Given the description of an element on the screen output the (x, y) to click on. 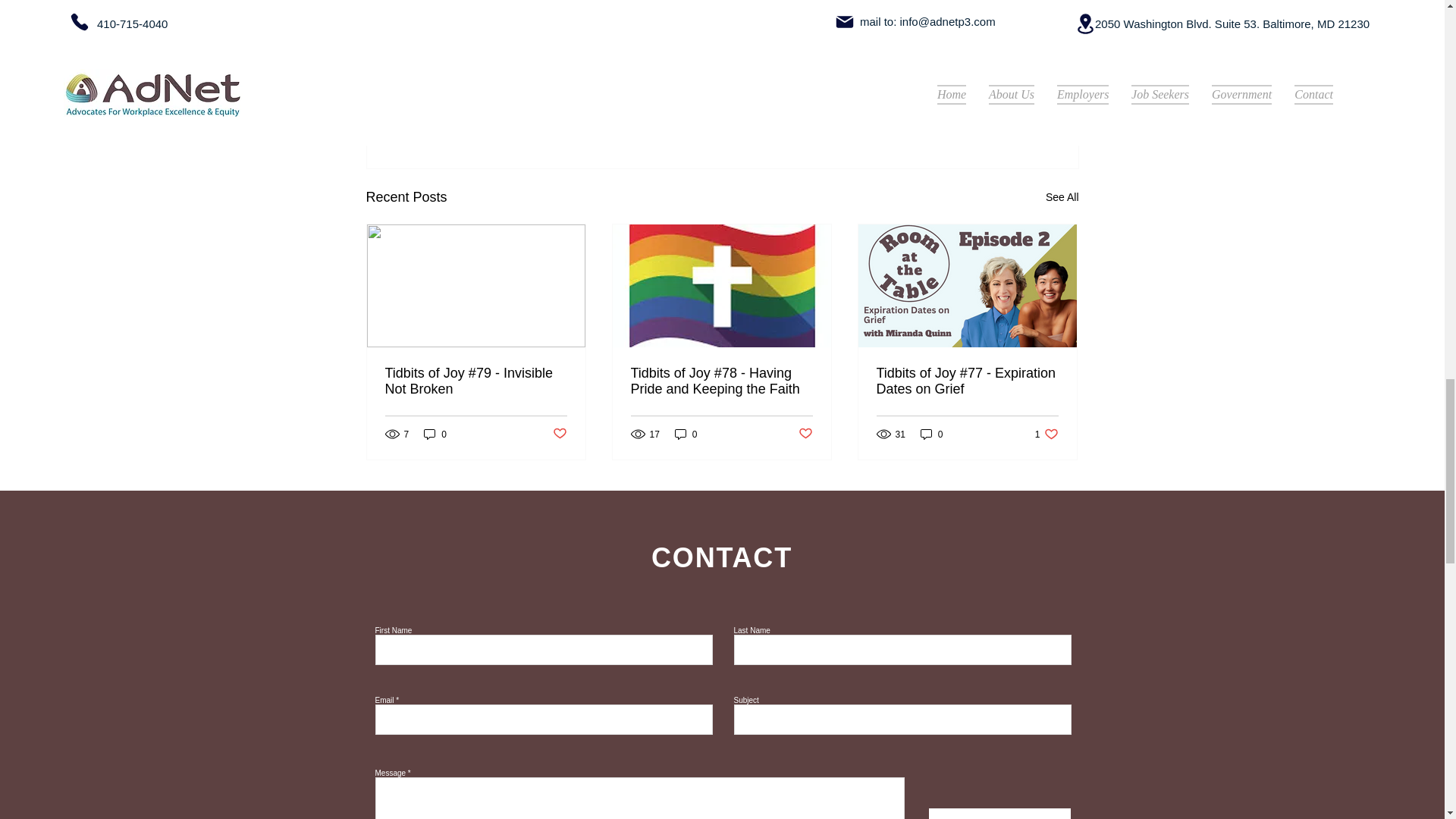
0 (435, 433)
Post not marked as liked (804, 433)
Post not marked as liked (558, 433)
0 (931, 433)
See All (1061, 197)
0 (1046, 433)
Post not marked as liked (685, 433)
